Given the description of an element on the screen output the (x, y) to click on. 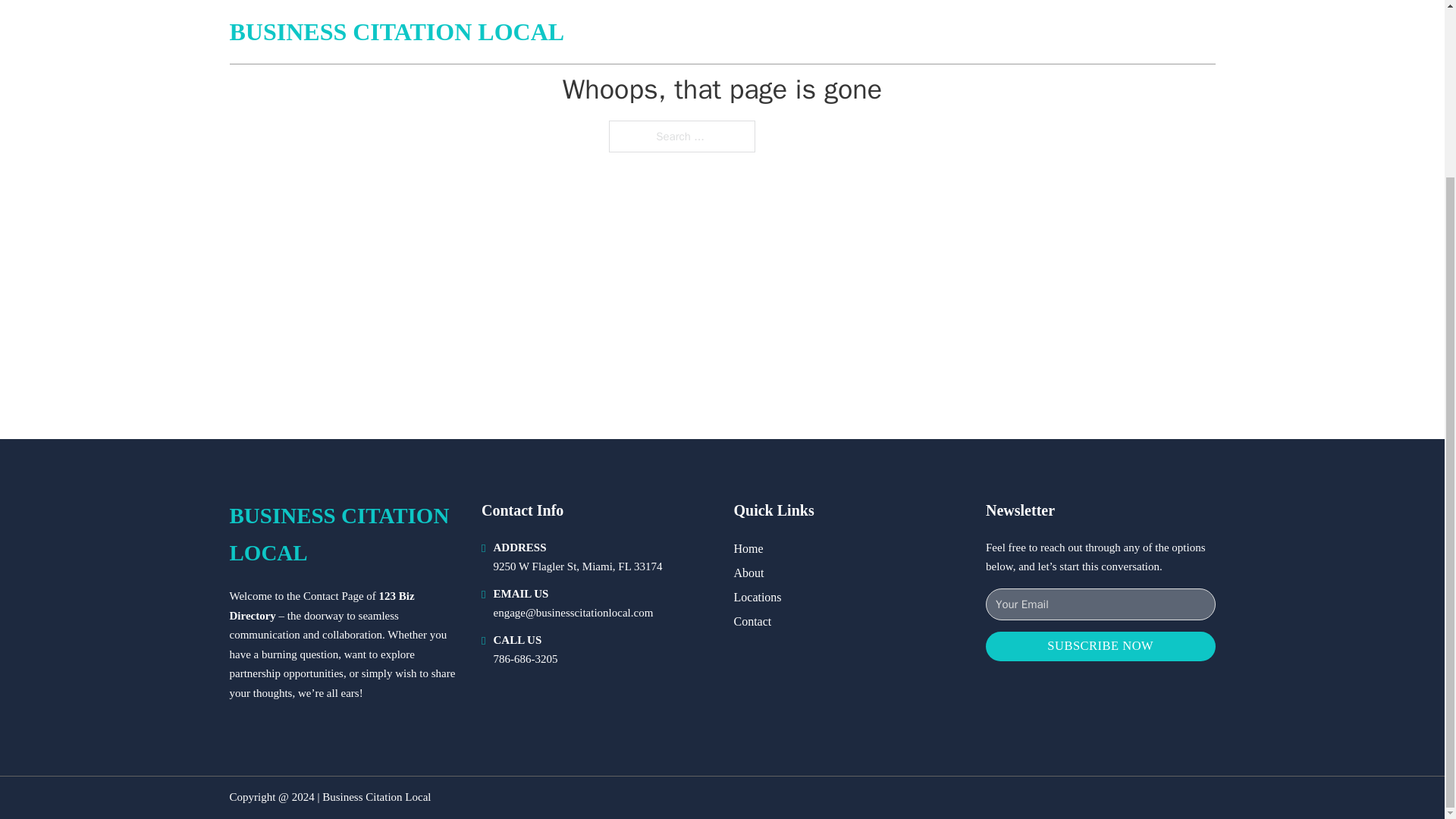
Locations (757, 597)
About (748, 572)
Contact (752, 620)
SUBSCRIBE NOW (1100, 645)
Home (747, 548)
786-686-3205 (525, 658)
BUSINESS CITATION LOCAL (343, 534)
